Given the description of an element on the screen output the (x, y) to click on. 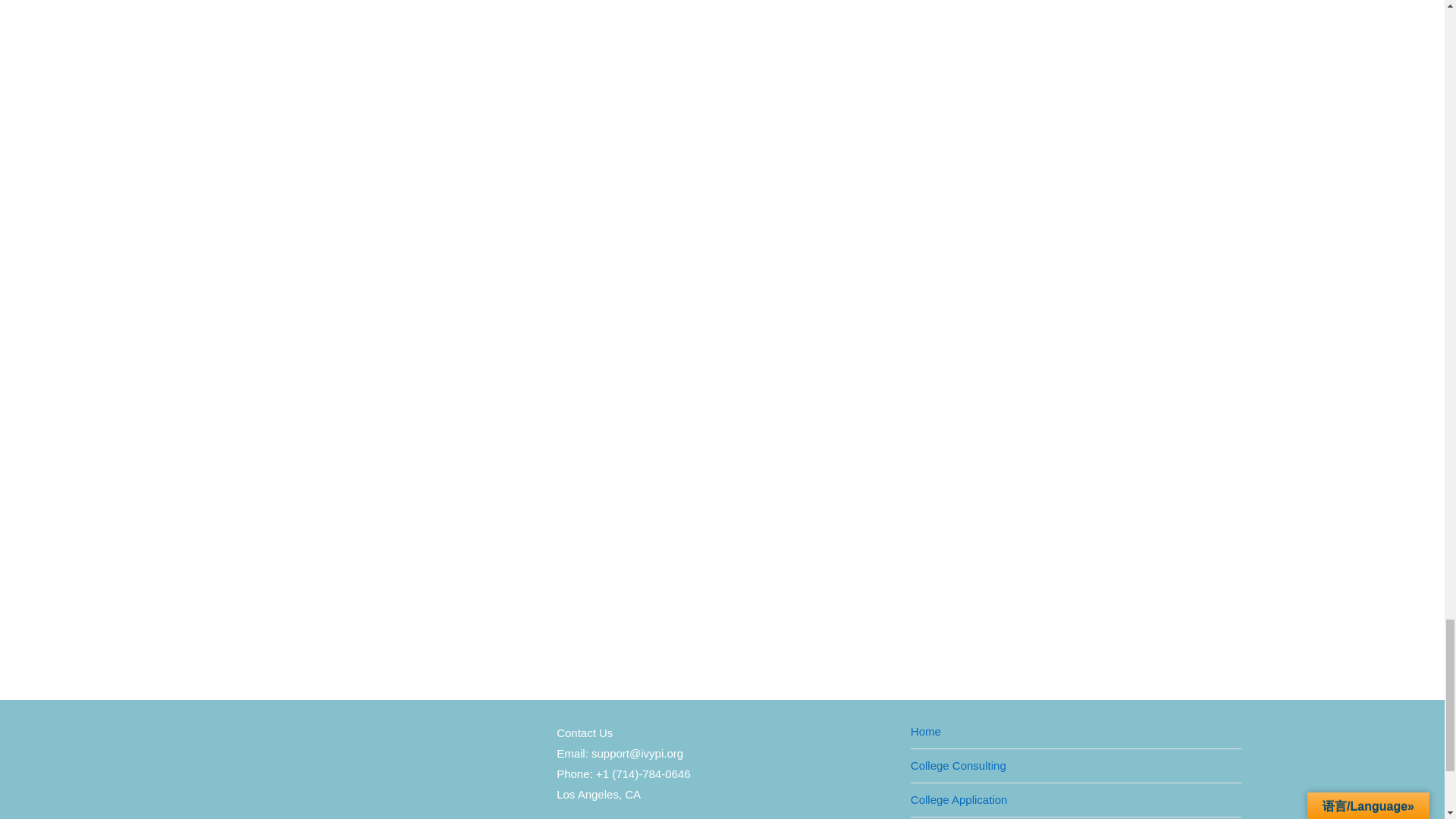
College Consulting (958, 765)
Home (925, 731)
Submit (388, 338)
College Application (959, 799)
